Given the description of an element on the screen output the (x, y) to click on. 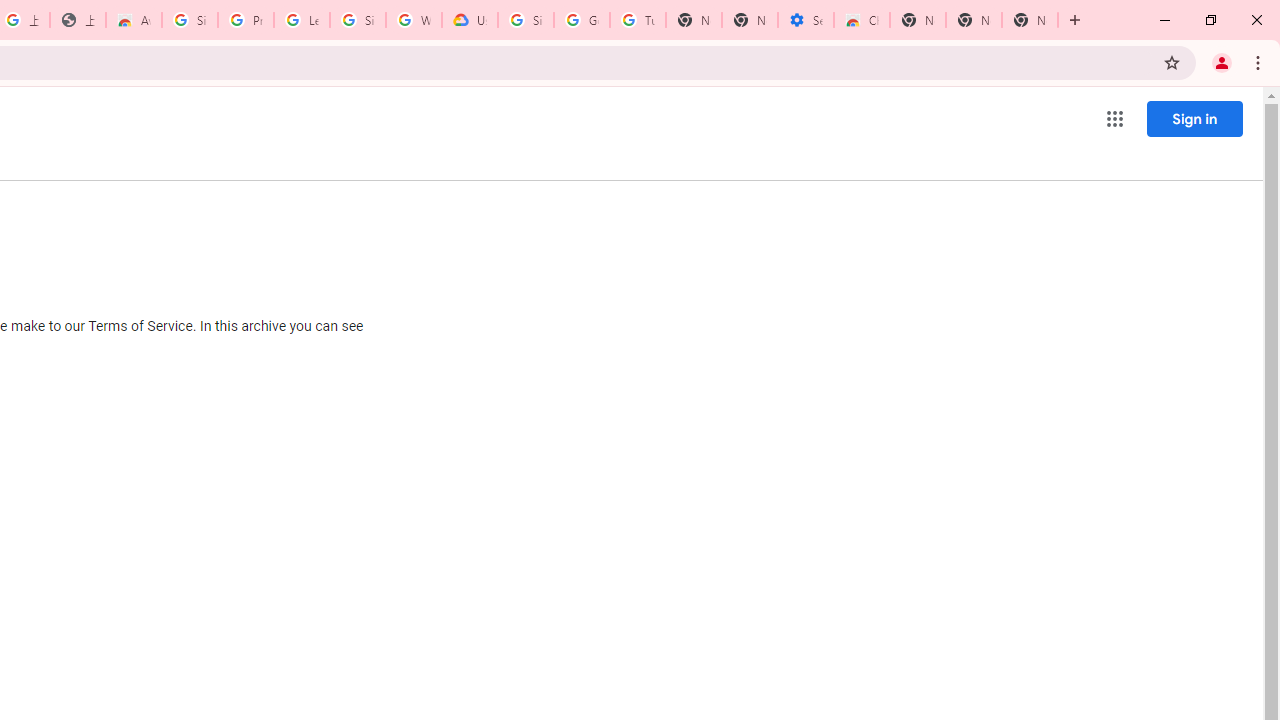
Sign in - Google Accounts (525, 20)
Google Account Help (582, 20)
Settings - Accessibility (806, 20)
Awesome Screen Recorder & Screenshot - Chrome Web Store (134, 20)
Sign in - Google Accounts (189, 20)
New Tab (1030, 20)
Chrome Web Store - Accessibility extensions (861, 20)
